Given the description of an element on the screen output the (x, y) to click on. 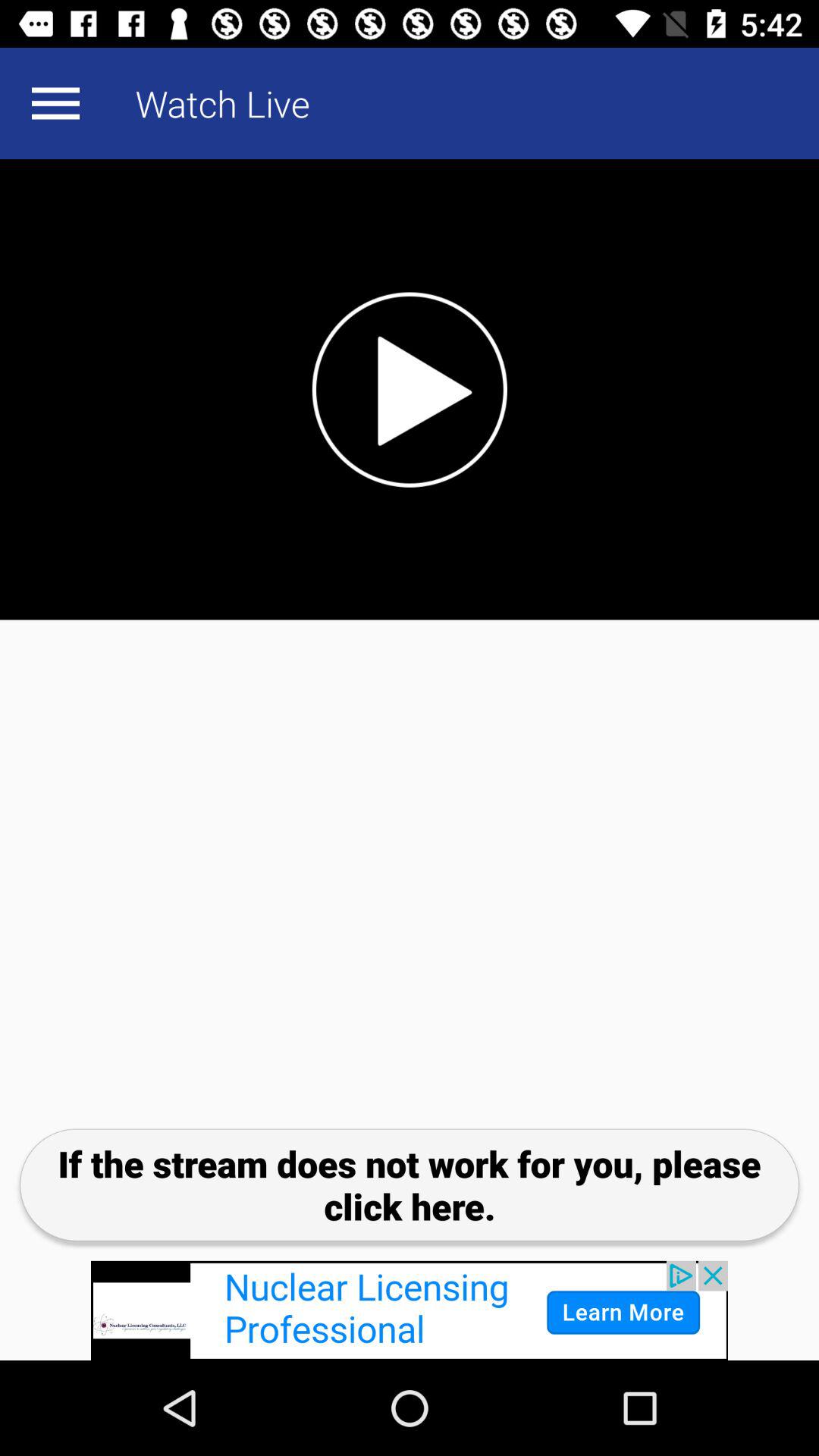
open settings (55, 103)
